Given the description of an element on the screen output the (x, y) to click on. 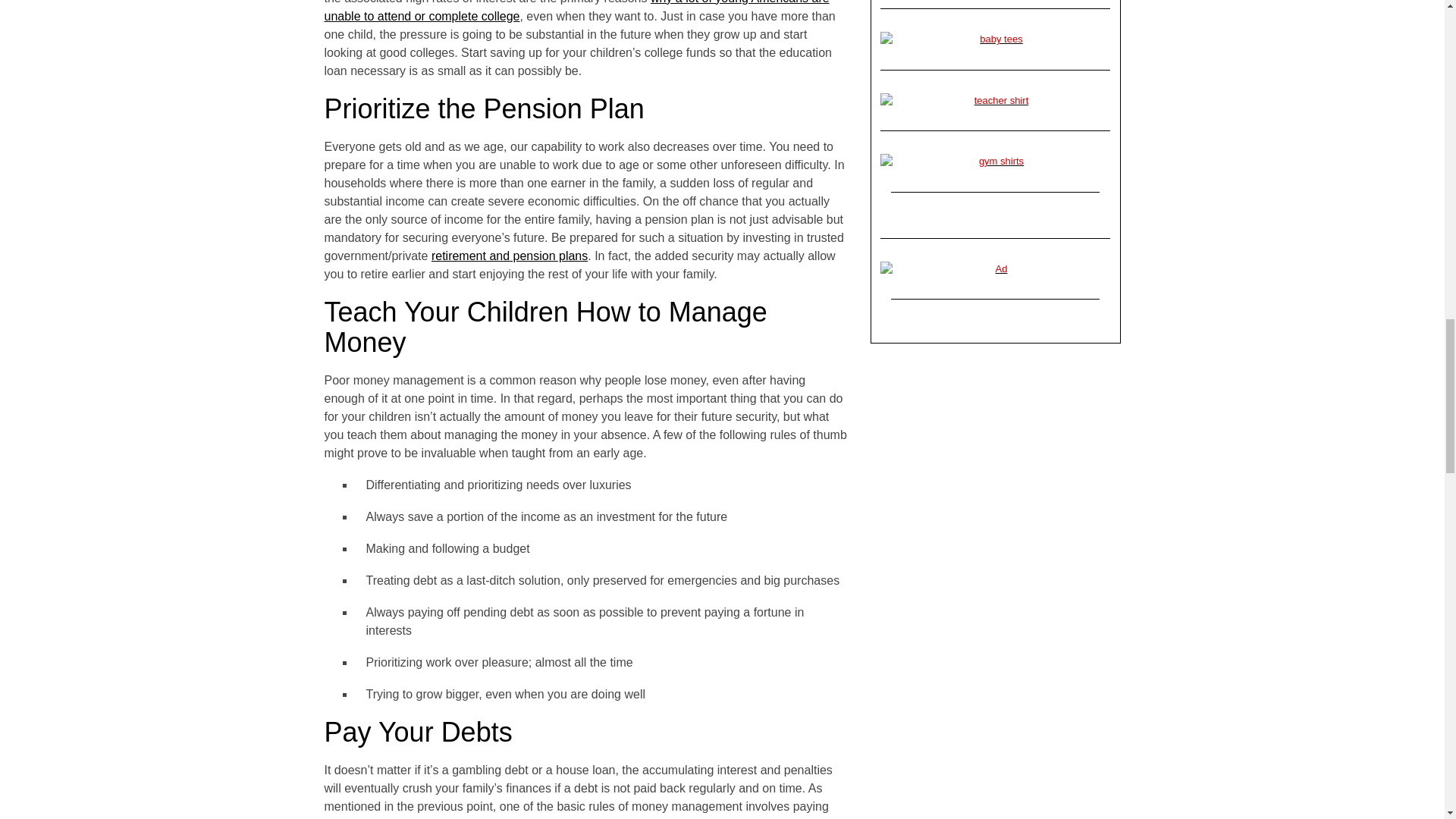
baby tees (994, 38)
teacher shirt (994, 100)
gym shirts (994, 160)
